Given the description of an element on the screen output the (x, y) to click on. 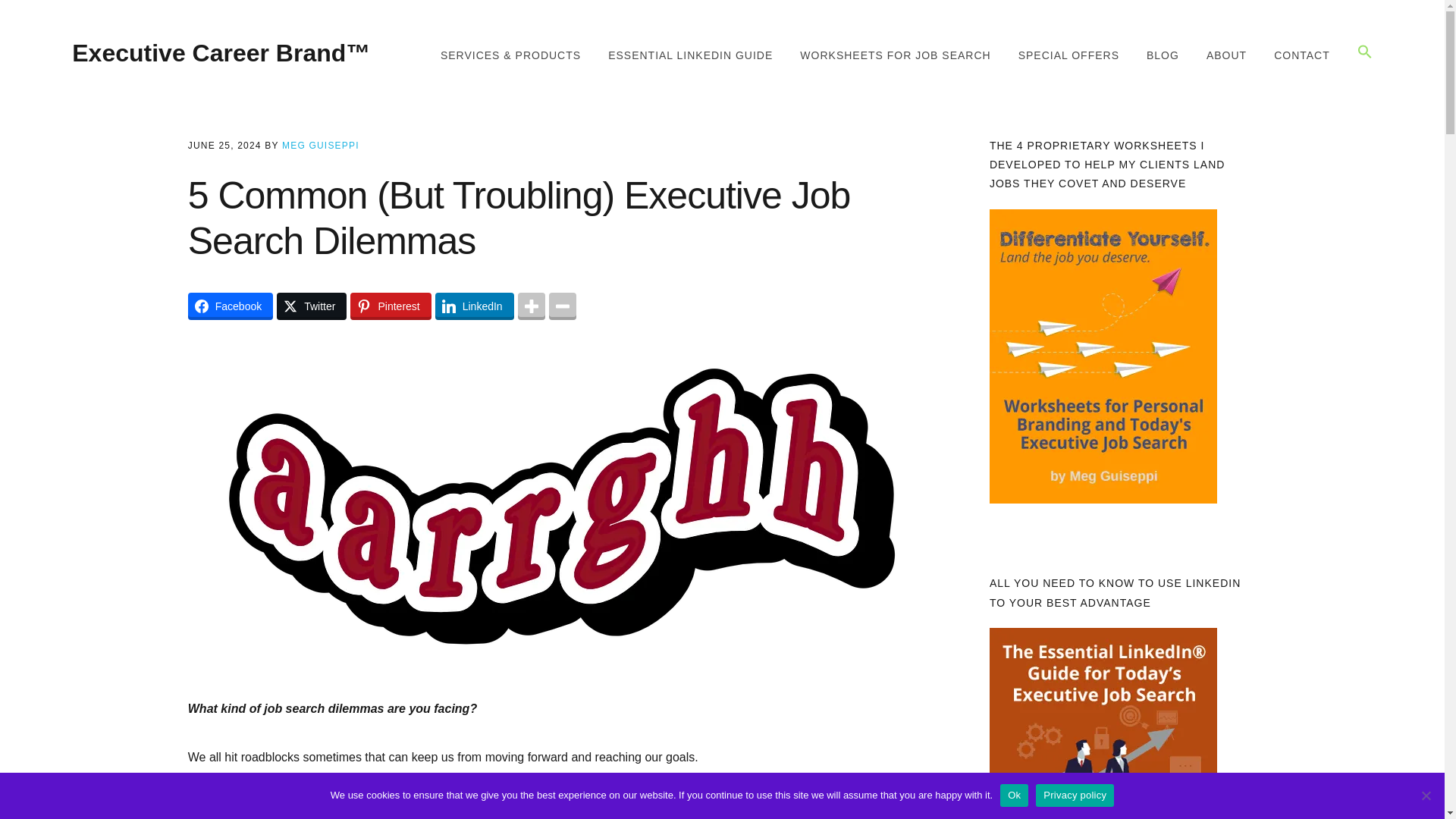
Pinterest (390, 306)
Twitter (311, 306)
Share on Twitter (311, 306)
ESSENTIAL LINKEDIN GUIDE (690, 55)
Share on LinkedIn (474, 306)
LinkedIn (474, 306)
Share on Facebook (230, 306)
MEG GUISEPPI (320, 145)
Share on Pinterest (390, 306)
SPECIAL OFFERS (1068, 55)
WORKSHEETS FOR JOB SEARCH (894, 55)
Share on More Button (531, 306)
Facebook (230, 306)
